Given the description of an element on the screen output the (x, y) to click on. 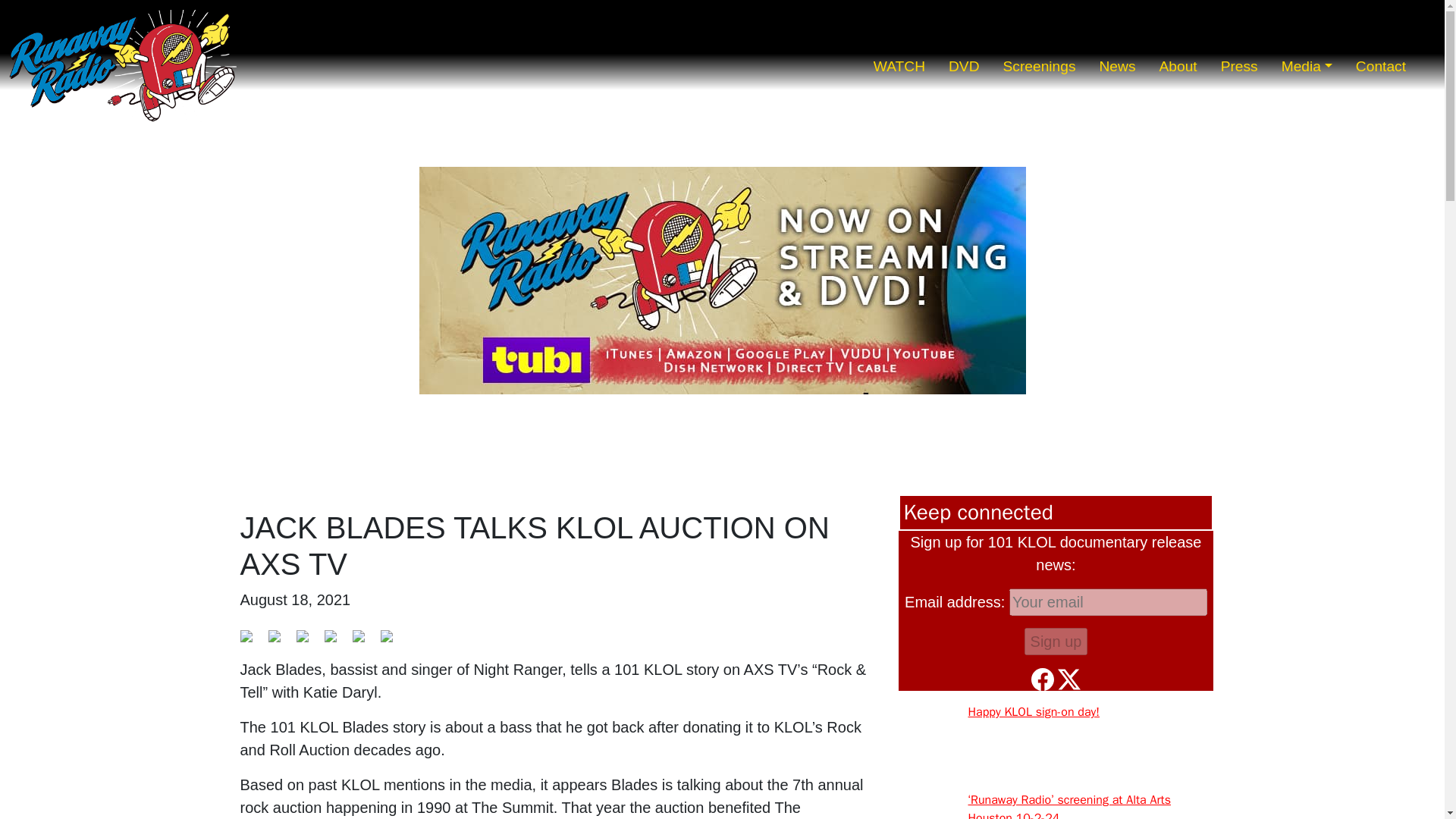
Happy KLOL sign-on day! (1033, 711)
WATCH (899, 66)
Share on Twitter (274, 635)
Share by email (392, 641)
Media (1306, 66)
Runaway Radio: The Rise and Fall of 101 KLOL (121, 66)
Contact (1380, 66)
Share on Linkedin (363, 641)
Share on Facebook (245, 635)
Pin it with Pinterest (330, 635)
